Given the description of an element on the screen output the (x, y) to click on. 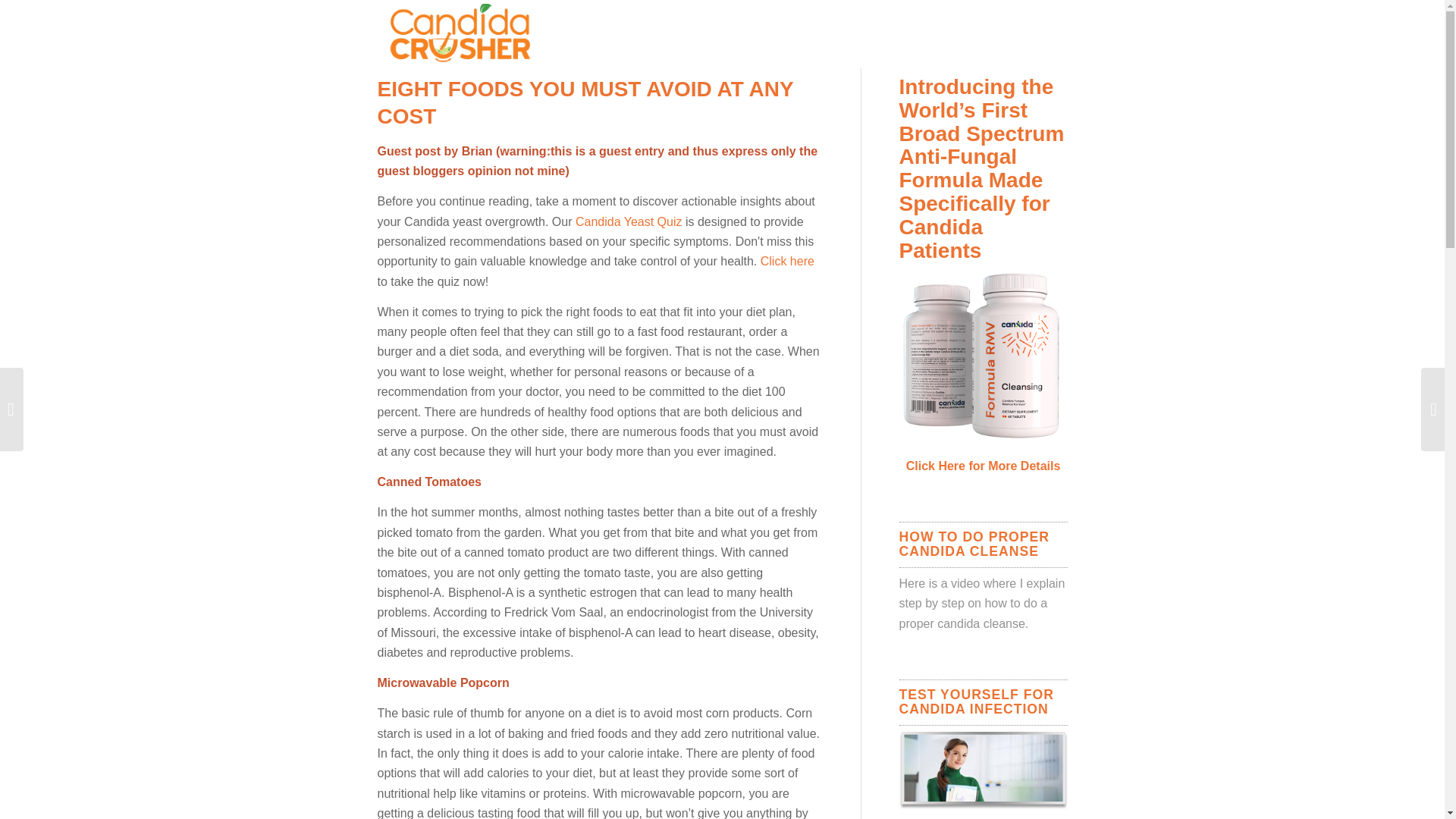
Click here (786, 260)
EIGHT FOODS YOU MUST AVOID AT ANY COST (585, 101)
candida cleanse (981, 623)
Candida Yeast Quiz (628, 221)
Permanent Link: Eight Foods You Must Avoid at Any Cost (585, 101)
Click Here for More Details (983, 465)
